Given the description of an element on the screen output the (x, y) to click on. 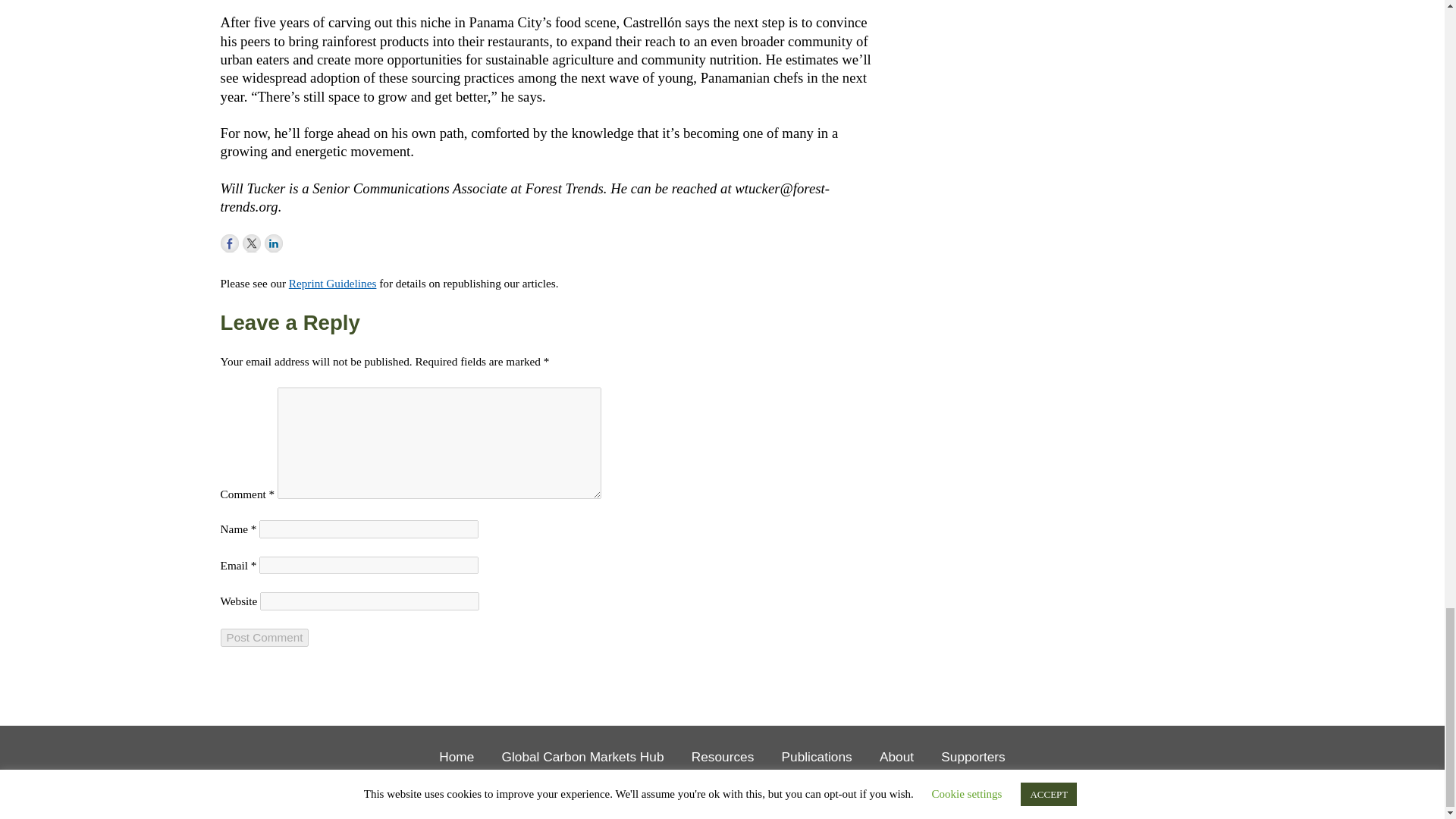
Follow us on Twitter (251, 243)
Find us on Linkedin (273, 243)
Reprint Guidelines (332, 282)
Post Comment (264, 637)
Follow us on Facebook (229, 243)
